Given the description of an element on the screen output the (x, y) to click on. 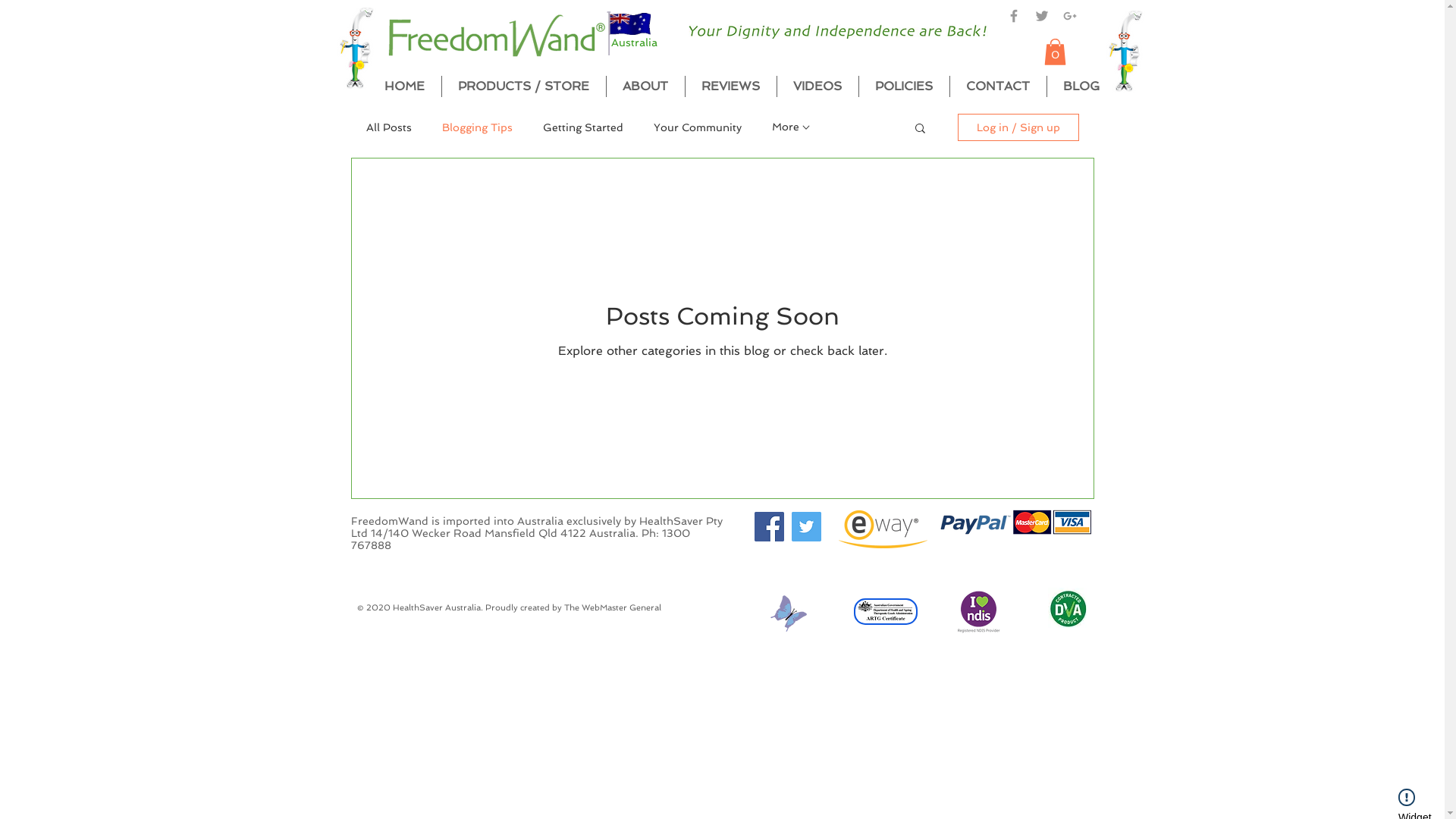
Your Community Element type: text (697, 127)
ABOUT Element type: text (645, 86)
CONTACT Element type: text (997, 86)
Log in / Sign up Element type: text (1017, 127)
POLICIES Element type: text (903, 86)
VIDEOS Element type: text (816, 86)
All Posts Element type: text (388, 127)
HOME Element type: text (403, 86)
0 Element type: text (1054, 51)
PRODUCTS / STORE Element type: text (523, 86)
Blogging Tips Element type: text (476, 127)
REVIEWS Element type: text (730, 86)
BLOG Element type: text (1080, 86)
Getting Started Element type: text (582, 127)
